Given the description of an element on the screen output the (x, y) to click on. 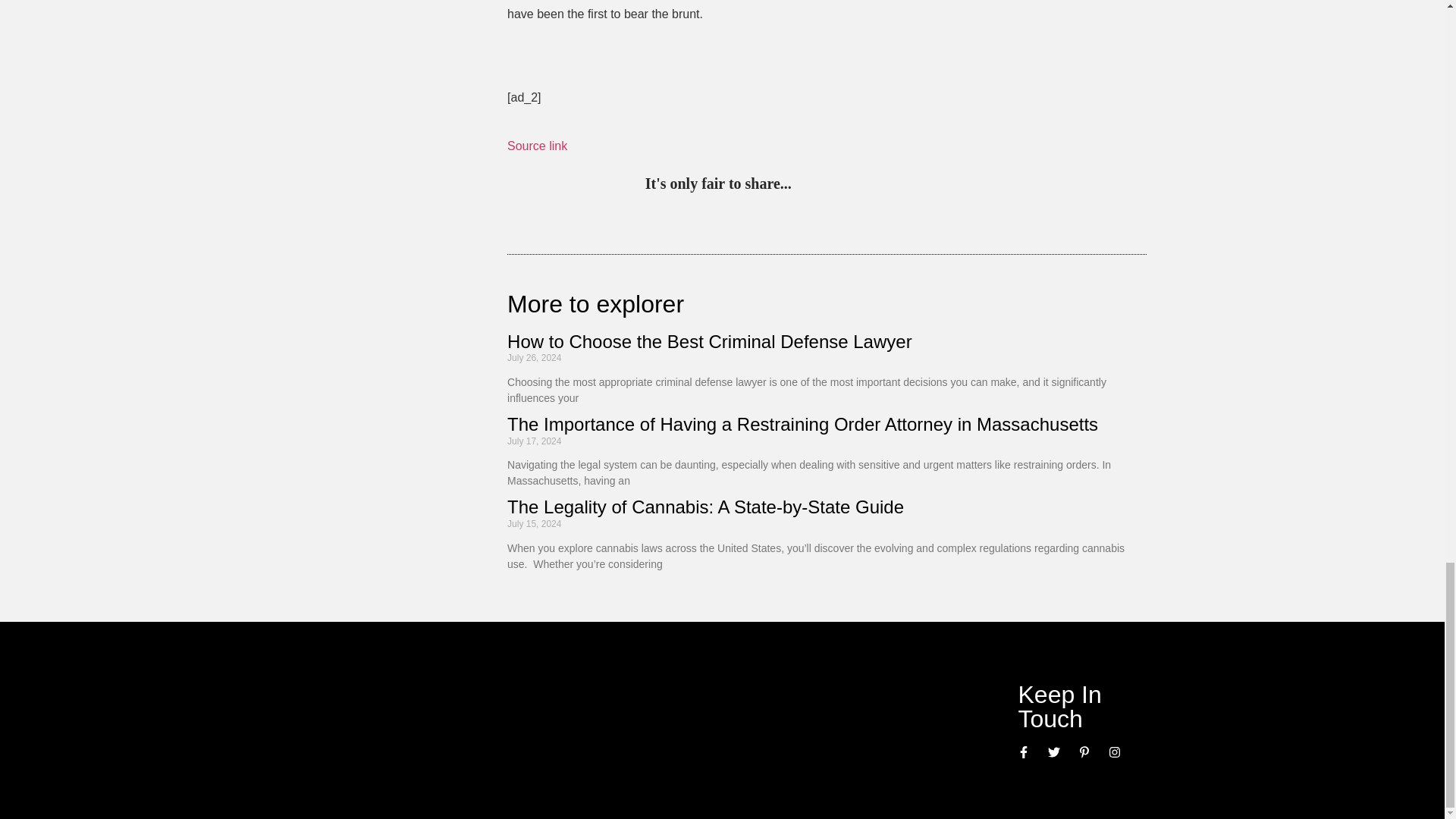
google (900, 184)
email (962, 184)
twitter (837, 184)
The Legality of Cannabis: A State-by-State Guide (705, 506)
facebook (931, 184)
pinterest (807, 184)
linkedin (869, 184)
How to Choose the Best Criminal Defense Lawyer  (711, 341)
Source link (536, 145)
print (993, 184)
